Given the description of an element on the screen output the (x, y) to click on. 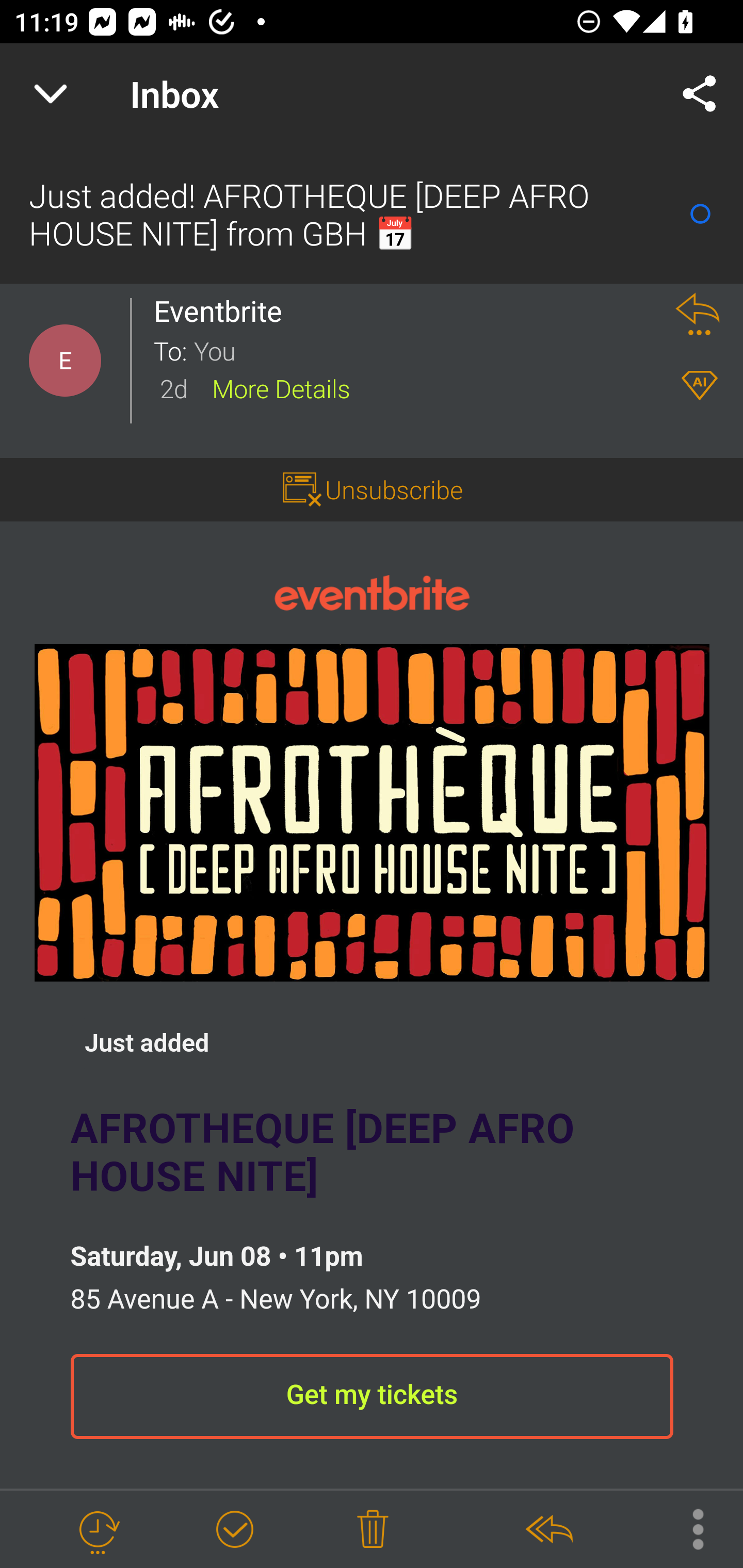
Navigate up (50, 93)
Share (699, 93)
Mark as Read (699, 213)
Eventbrite (222, 310)
Contact Details (64, 360)
You (422, 349)
More Details (280, 387)
Unsubscribe (393, 488)
Eventbrite (371, 592)
AFROTHEQUE [DEEP AFRO HOUSE NITE] (371, 811)
Get my tickets (371, 1396)
More Options (687, 1528)
Snooze (97, 1529)
Mark as Done (234, 1529)
Delete (372, 1529)
Reply All (548, 1529)
